Given the description of an element on the screen output the (x, y) to click on. 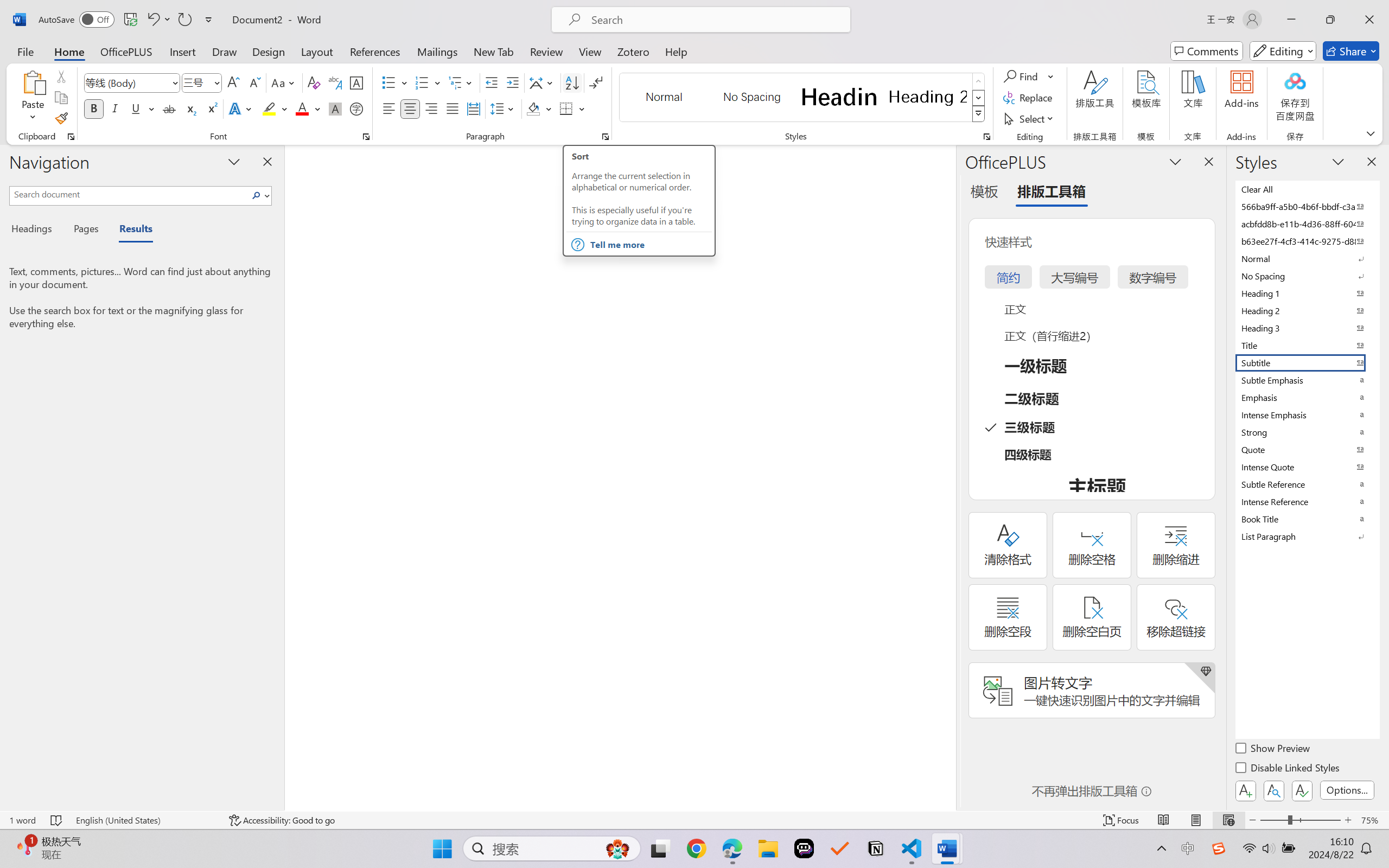
Font... (365, 136)
Subscript (190, 108)
Search (256, 195)
Comments (1206, 50)
Share (1350, 51)
Change Case (284, 82)
Strong (1306, 431)
Intense Emphasis (1306, 414)
Text Effects and Typography (241, 108)
Bold (94, 108)
Shading RGB(0, 0, 0) (533, 108)
